Given the description of an element on the screen output the (x, y) to click on. 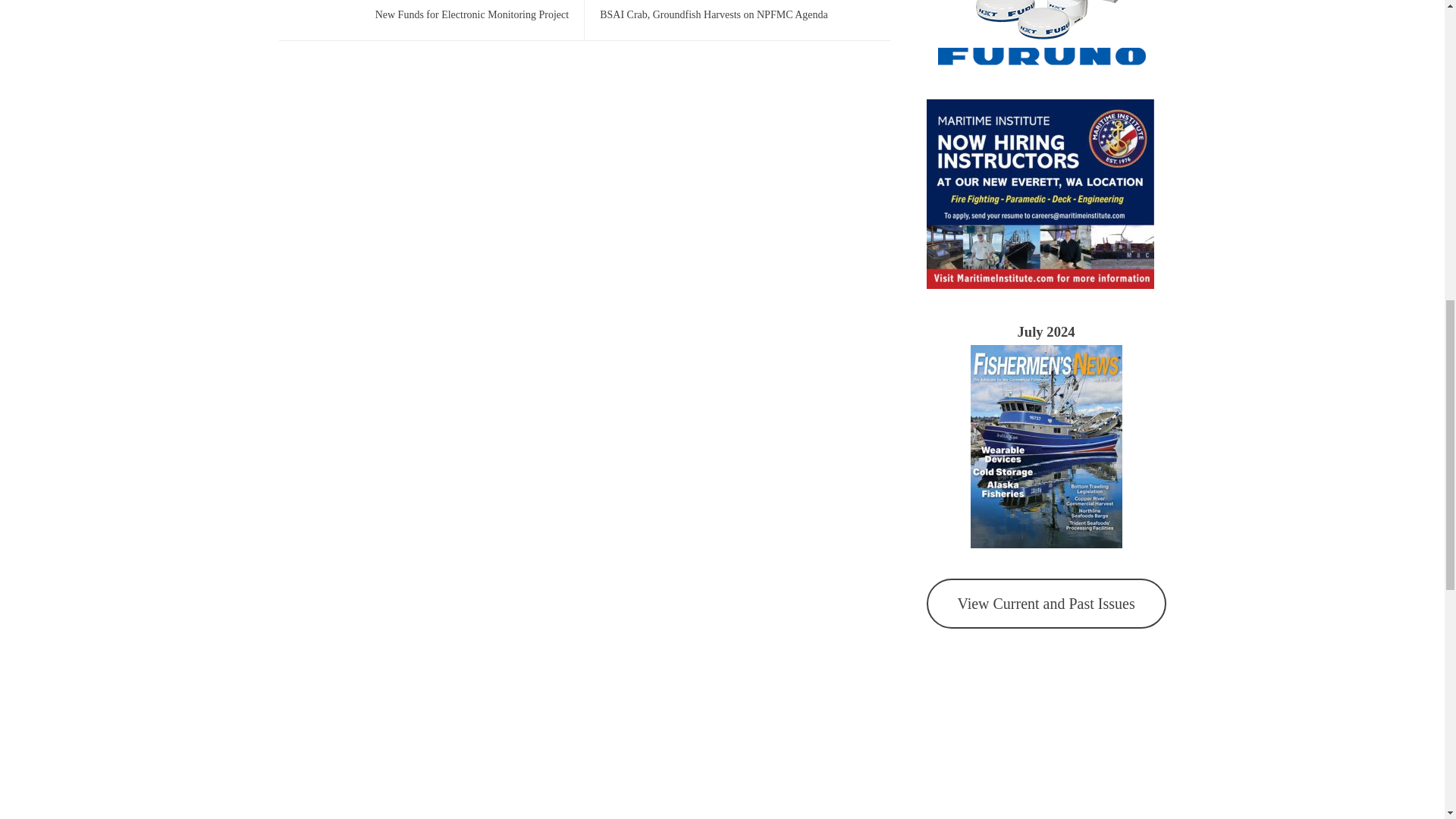
July 2024 (1045, 331)
View Current and Past Issues (1046, 603)
